Given the description of an element on the screen output the (x, y) to click on. 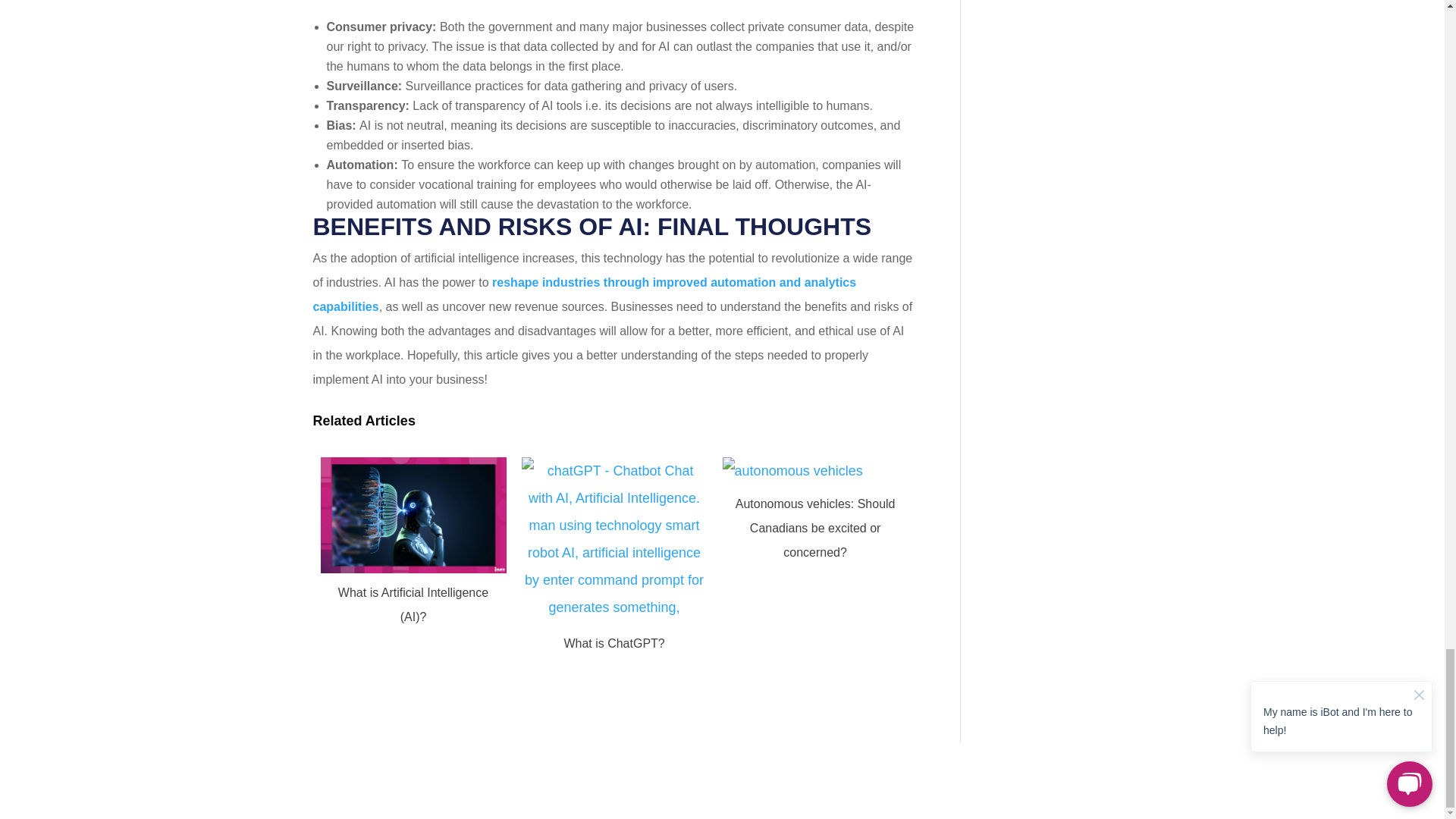
What is ChatGPT? (614, 661)
What is ChatGPT? (614, 643)
